Given the description of an element on the screen output the (x, y) to click on. 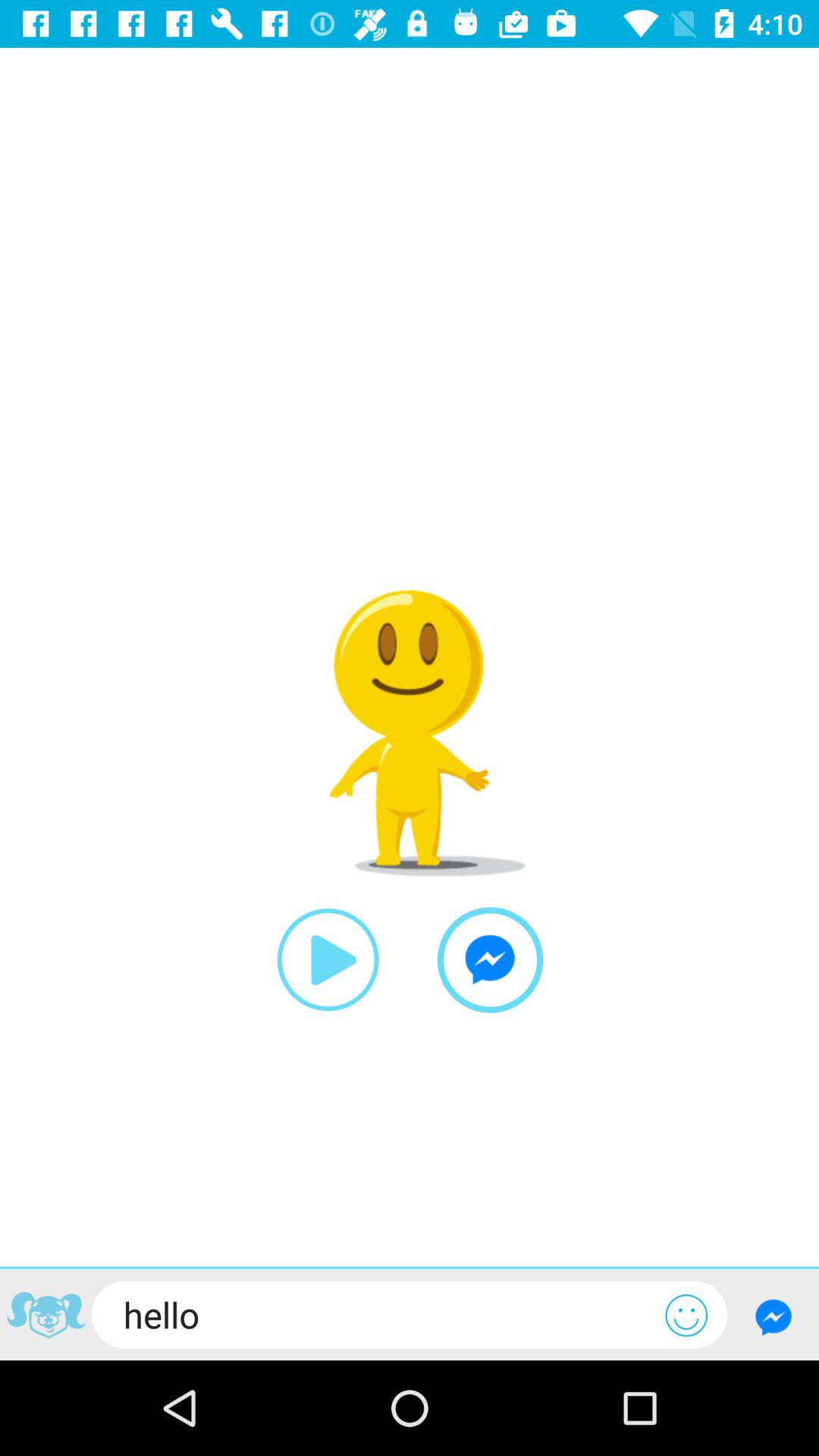
go to messenger (773, 1316)
